Given the description of an element on the screen output the (x, y) to click on. 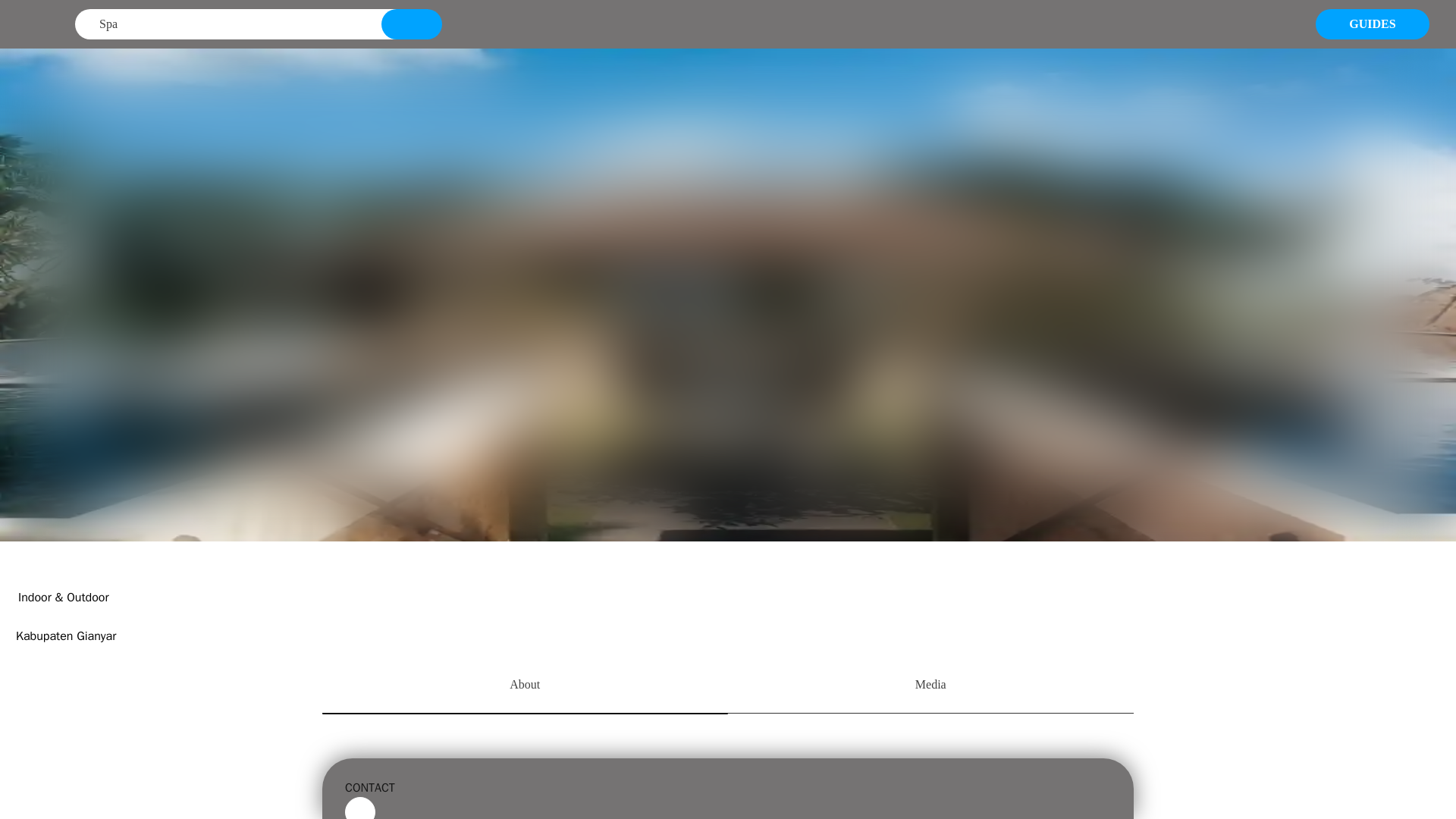
About (524, 686)
Media (931, 686)
GUIDES (1372, 24)
